Given the description of an element on the screen output the (x, y) to click on. 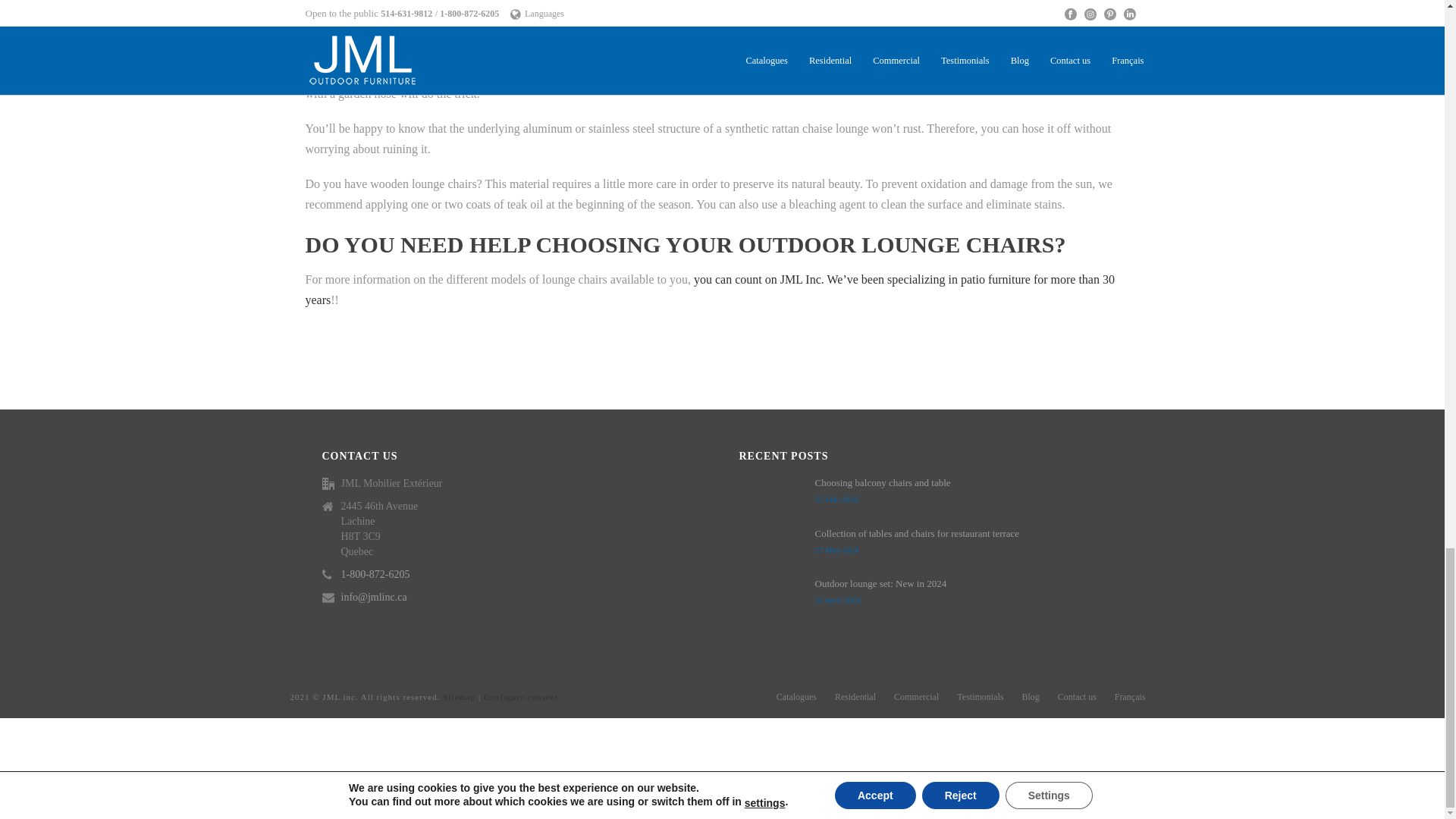
Choosing balcony chairs and table (768, 496)
Collection of tables and chairs for restaurant terrace (768, 547)
Outdoor lounge set: New in 2024 (768, 598)
